Given the description of an element on the screen output the (x, y) to click on. 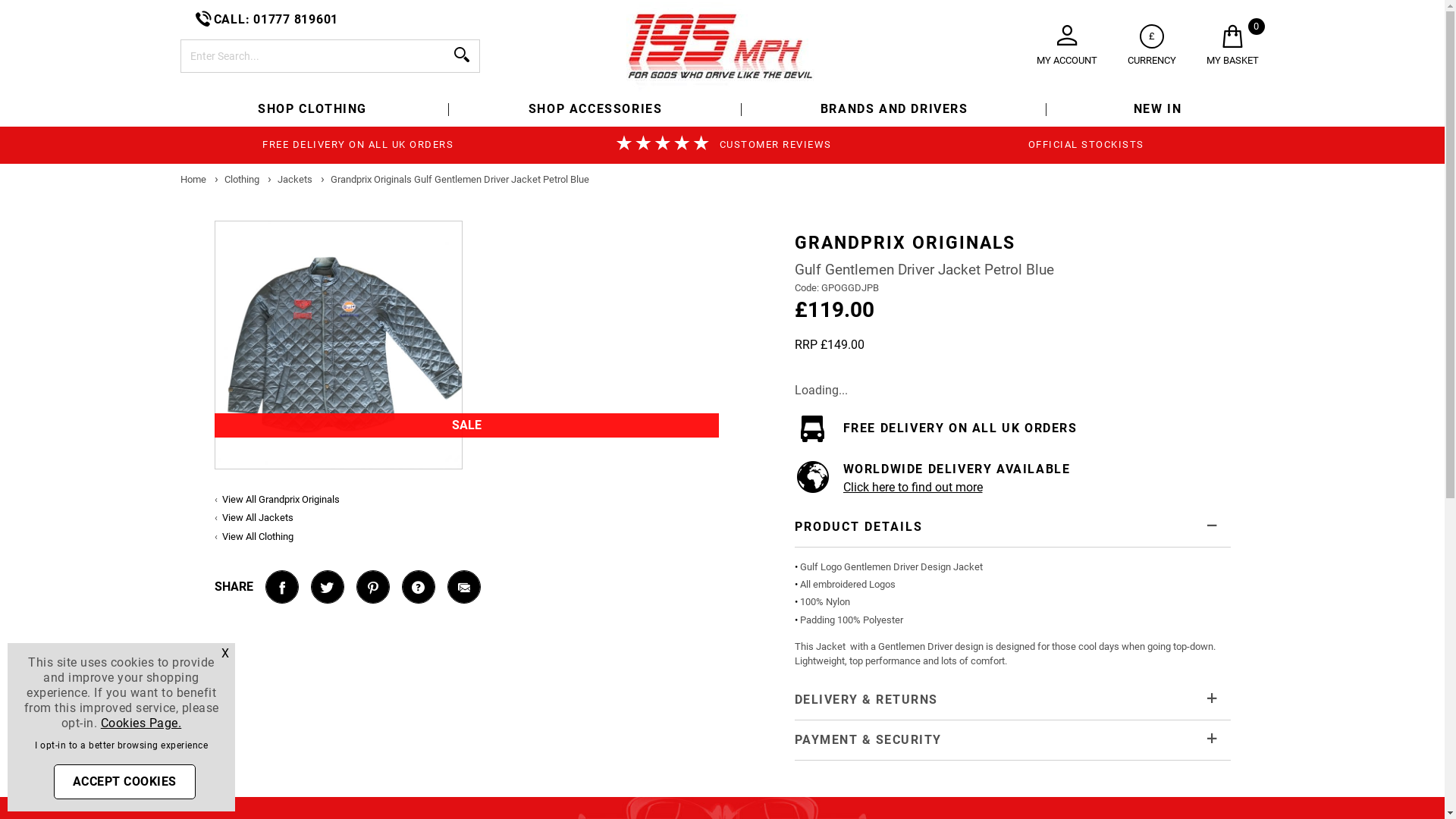
PRODUCT DETAILS Element type: text (1012, 526)
Cookies Page. Element type: text (141, 722)
View All Clothing Element type: text (257, 536)
Clothing Element type: text (242, 179)
Jackets Element type: text (295, 179)
Share On Facebook Element type: hover (281, 586)
PAYMENT & SECURITY Element type: text (1012, 739)
DELIVERY & RETURNS Element type: text (1012, 699)
SHOP ACCESSORIES Element type: text (595, 108)
WORLDWIDE DELIVERY AVAILABLE
Click here to find out more Element type: text (1012, 476)
Share On Pinterest Element type: hover (372, 586)
Ask A Question Element type: hover (417, 586)
X Element type: text (225, 653)
SHOP CLOTHING Element type: text (311, 108)
BRANDS AND DRIVERS Element type: text (893, 108)
NEW IN Element type: text (1156, 108)
View All Grandprix Originals Element type: text (280, 498)
Email A Friend Element type: hover (463, 586)
ACCEPT COOKIES Element type: text (124, 781)
Share On Twitter Element type: hover (326, 586)
View All Jackets Element type: text (257, 517)
Home Element type: text (194, 179)
195 MPH Element type: hover (722, 46)
MY ACCOUNT Element type: text (1065, 45)
0
MY BASKET Element type: text (1231, 45)
